Given the description of an element on the screen output the (x, y) to click on. 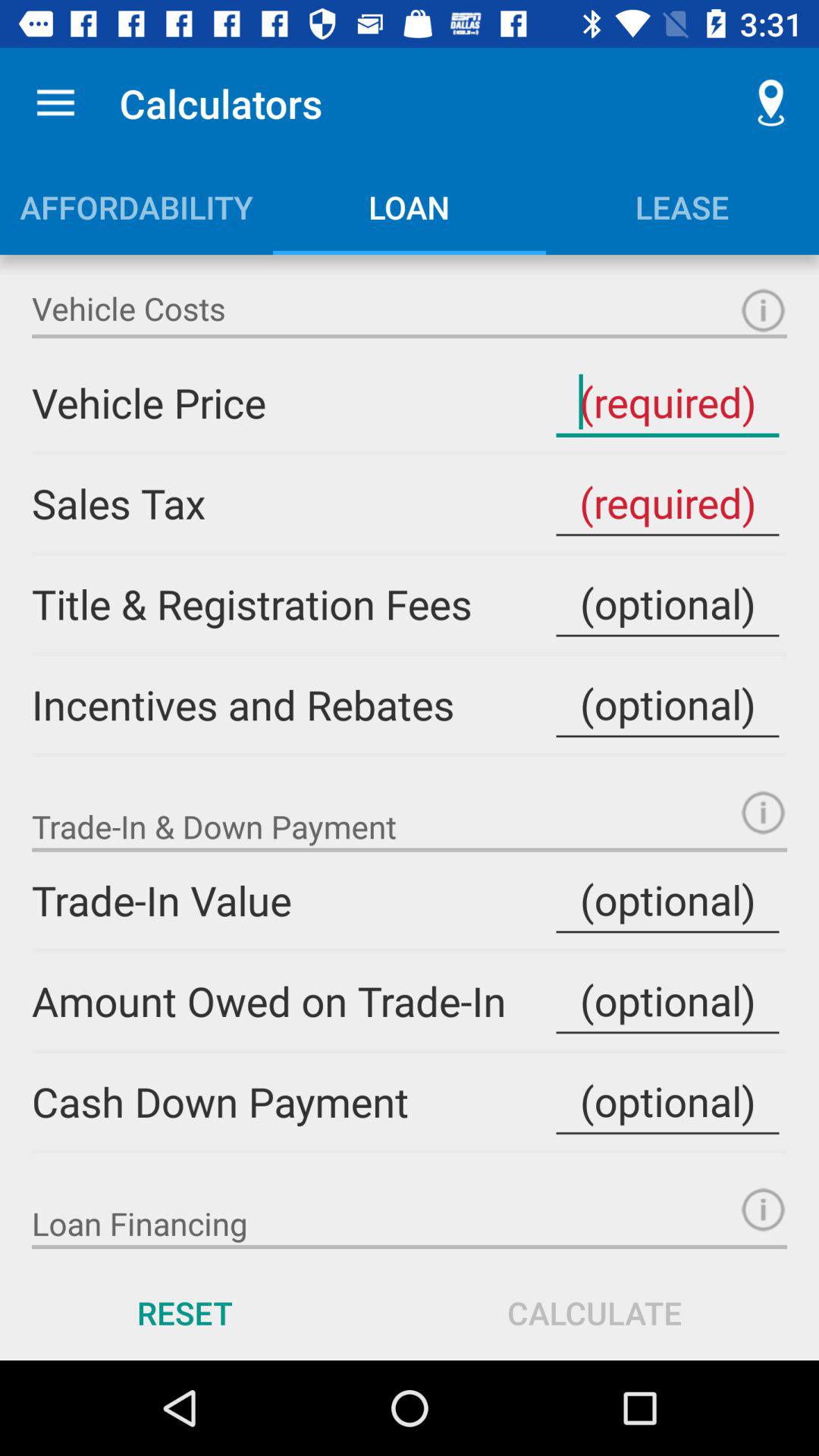
enter sales tax (667, 503)
